Given the description of an element on the screen output the (x, y) to click on. 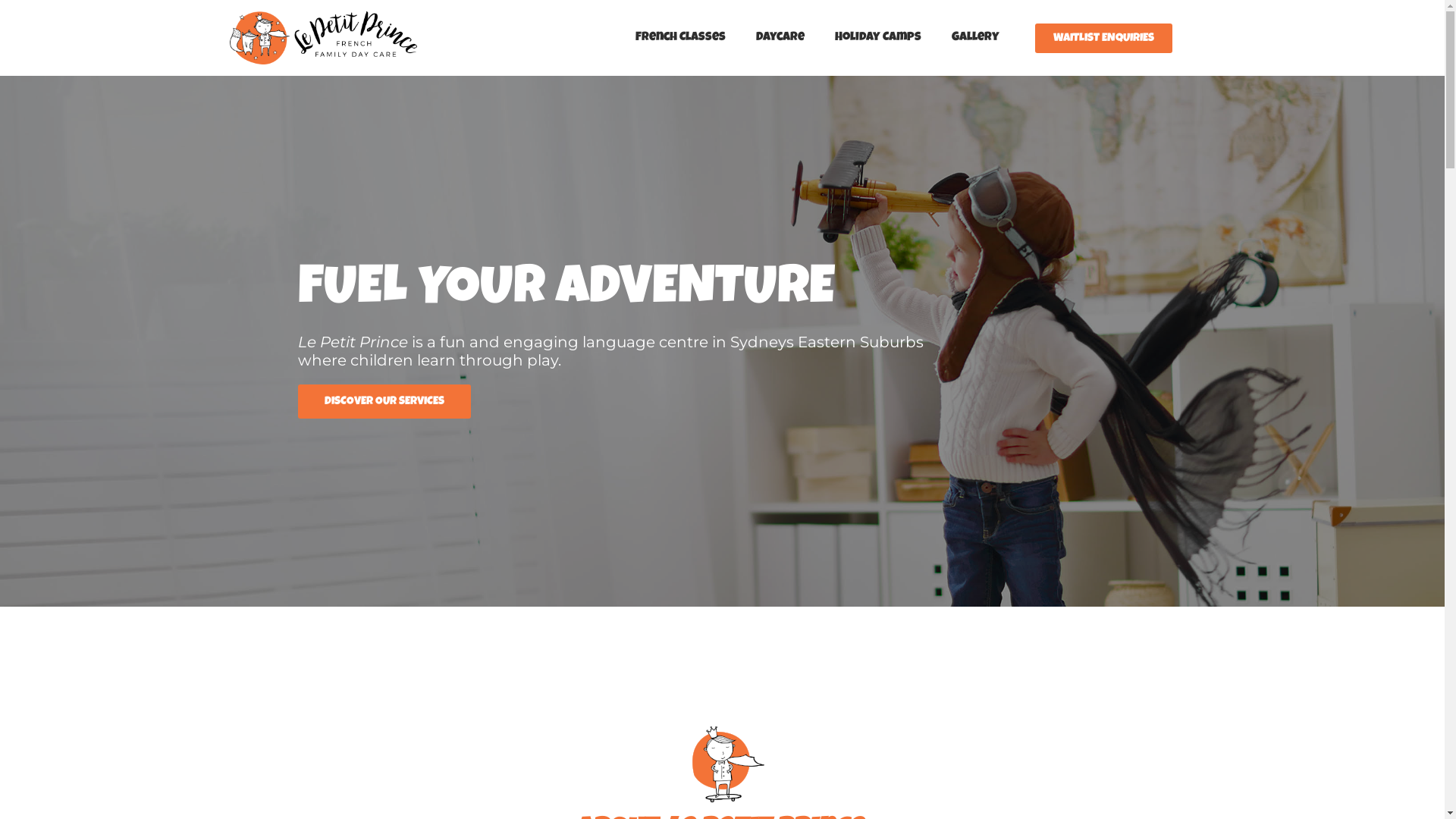
Daycare Element type: text (779, 37)
WAITLIST ENQUIRIES Element type: text (1103, 37)
Holiday Camps Element type: text (877, 37)
DISCOVER OUR SERVICES Element type: text (383, 400)
French Classes Element type: text (680, 37)
Gallery Element type: text (975, 37)
